Given the description of an element on the screen output the (x, y) to click on. 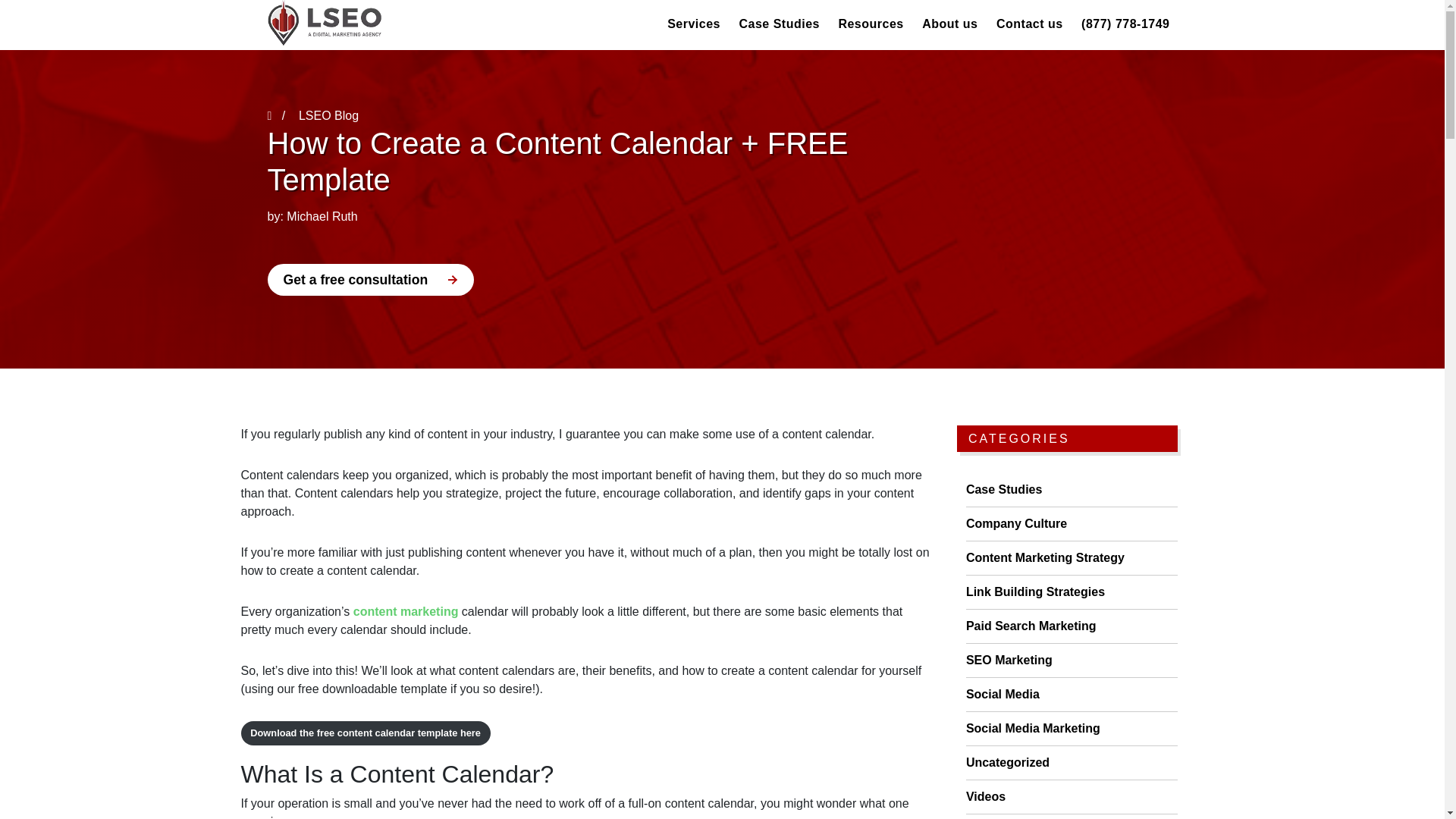
Services (693, 23)
About us (948, 23)
content marketing (405, 611)
Resources (870, 23)
LSEO Blog (328, 115)
Case Studies (778, 23)
Contact us (1028, 23)
Michael Ruth (321, 215)
Get a free consultation (370, 279)
